Given the description of an element on the screen output the (x, y) to click on. 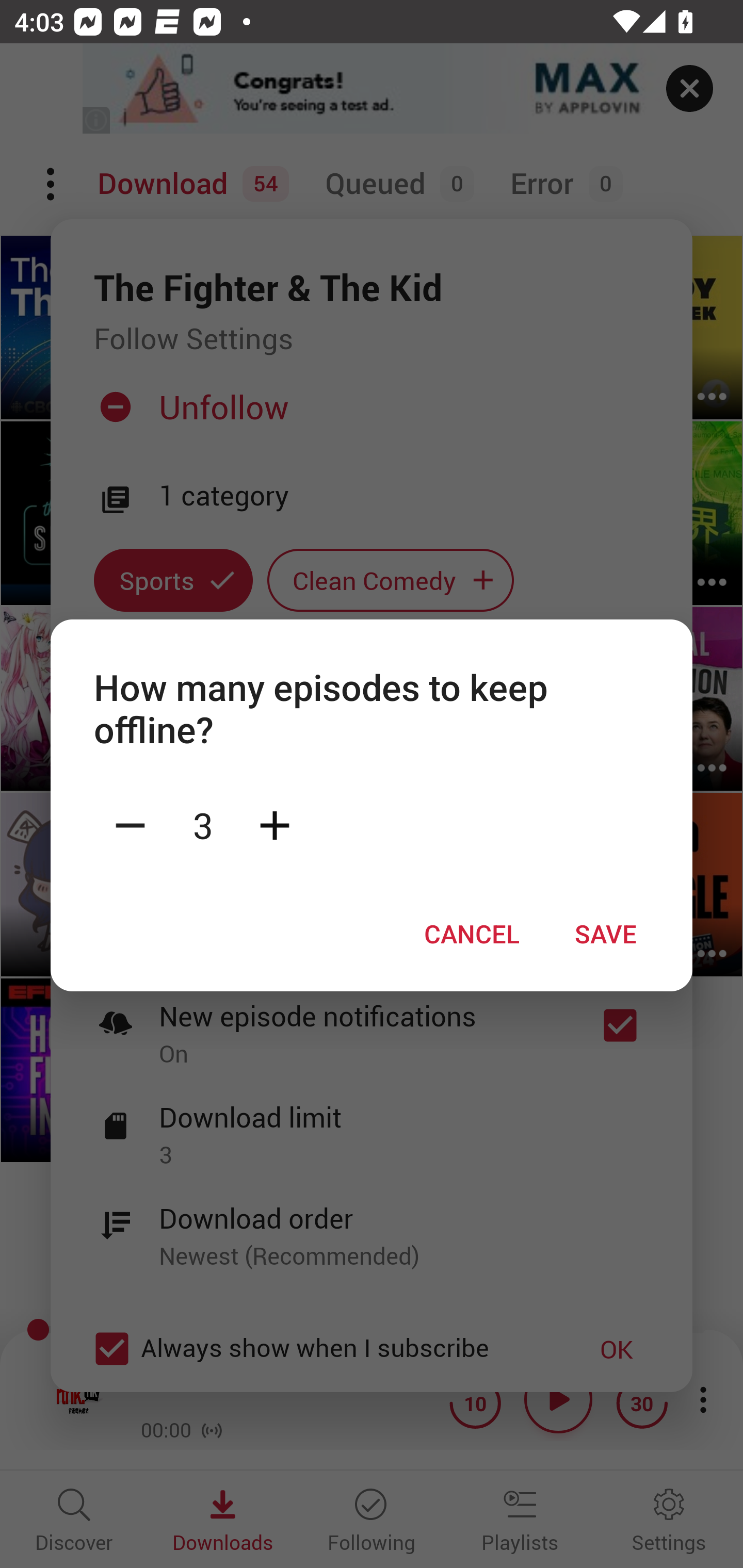
Minus (129, 824)
Plus (274, 824)
CANCEL (470, 933)
SAVE (605, 933)
